Given the description of an element on the screen output the (x, y) to click on. 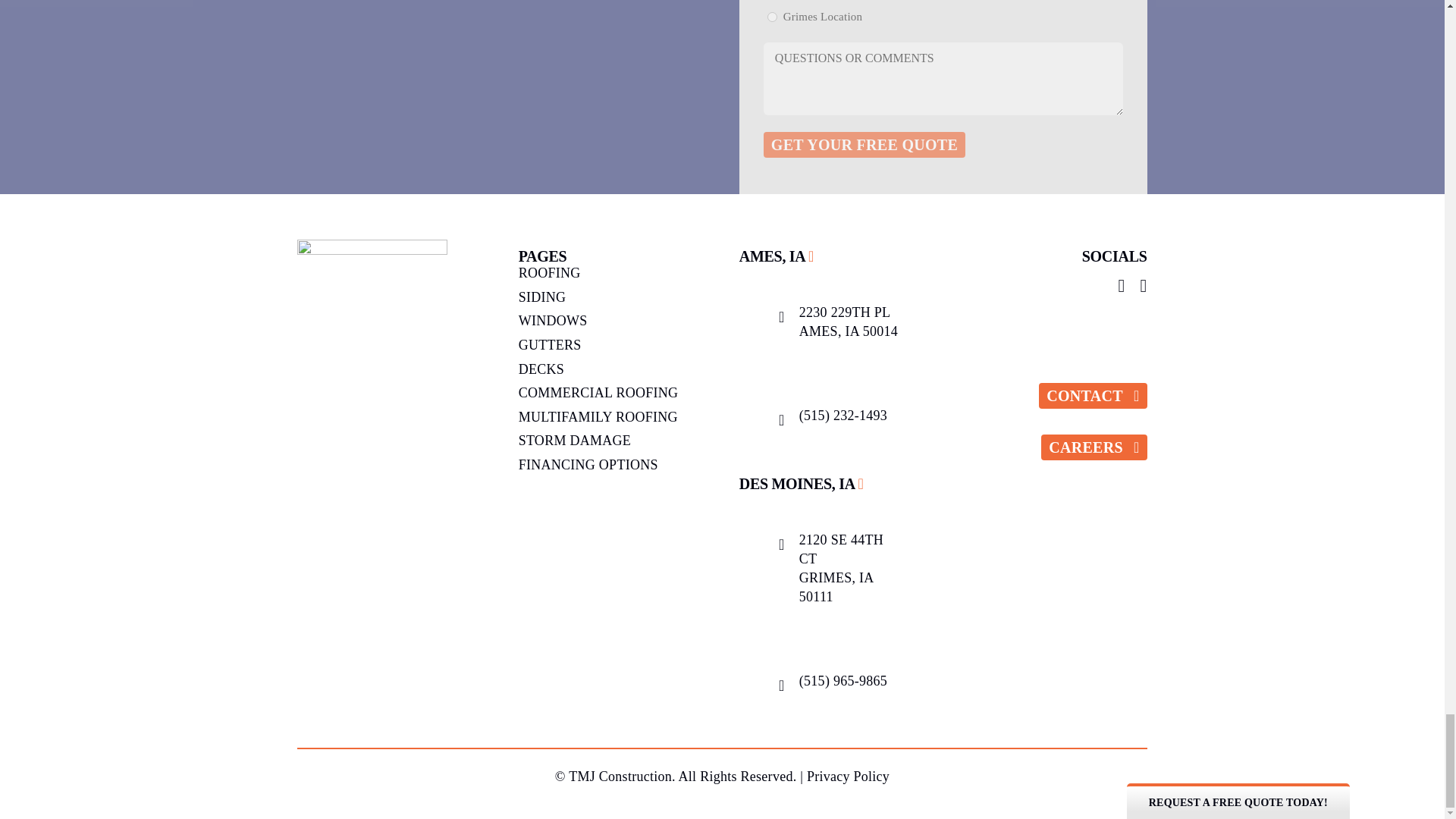
GET YOUR FREE QUOTE (863, 144)
Grimes Location (772, 17)
